Given the description of an element on the screen output the (x, y) to click on. 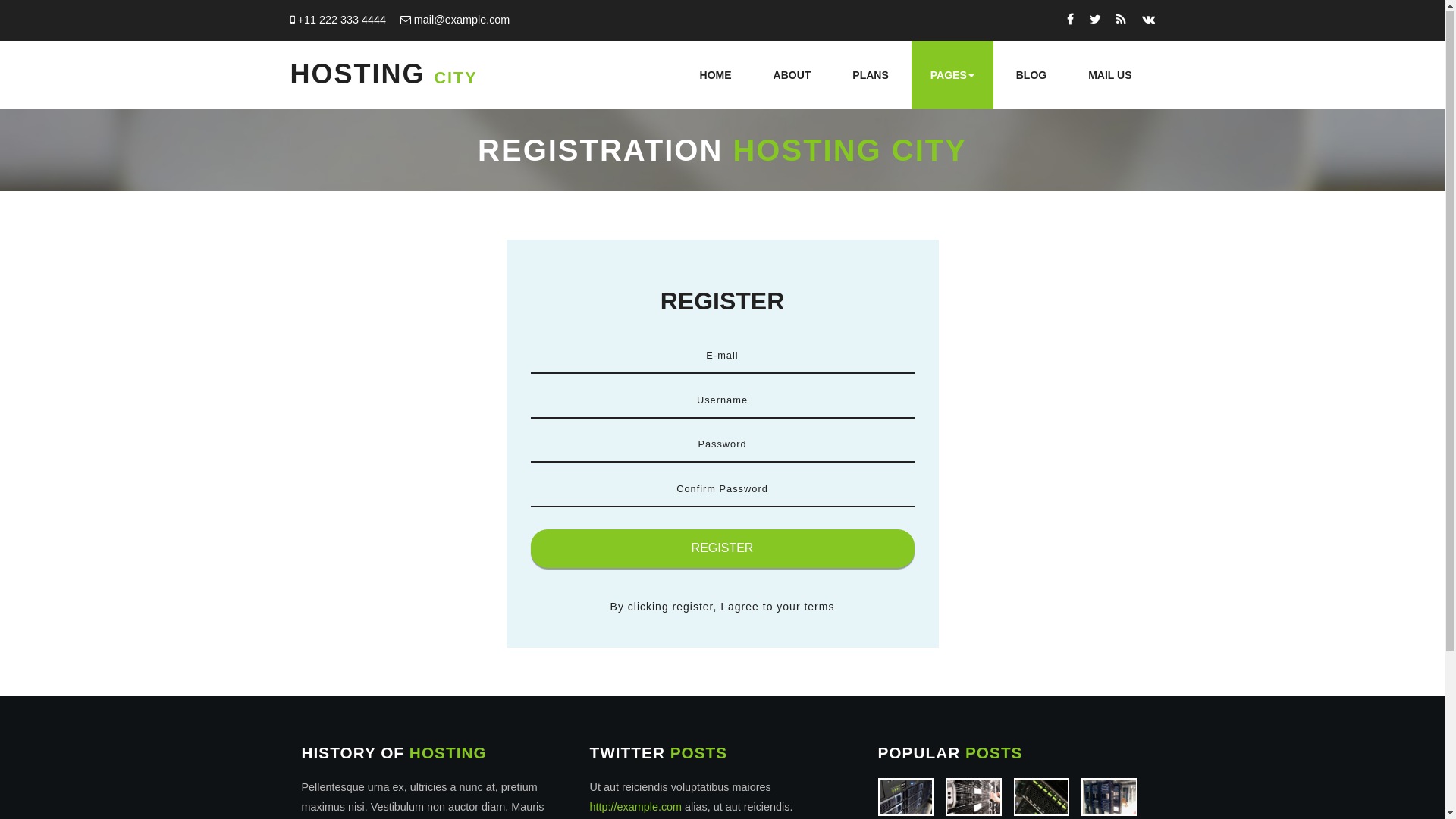
http://example.com Element type: text (635, 807)
By clicking register, I agree to your terms Element type: text (722, 607)
MAIL US Element type: text (1109, 75)
PAGES Element type: text (952, 75)
REGISTER Element type: text (722, 549)
PLANS Element type: text (869, 75)
HOME Element type: text (715, 75)
BLOG Element type: text (1031, 75)
HOSTING CITY Element type: text (382, 74)
ABOUT Element type: text (792, 75)
mail@example.com Element type: text (462, 20)
